Given the description of an element on the screen output the (x, y) to click on. 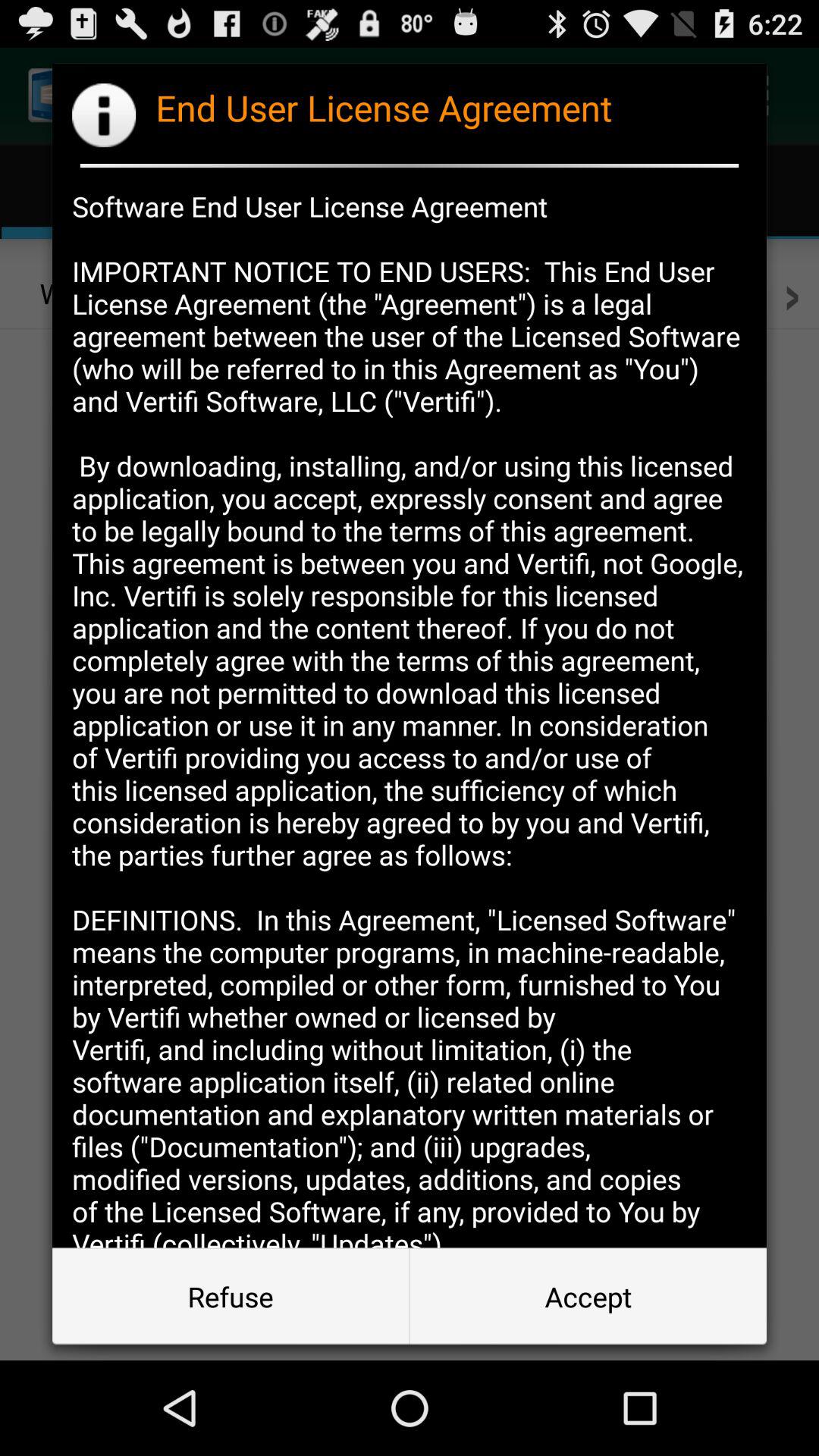
choose the app below software end user app (588, 1296)
